Given the description of an element on the screen output the (x, y) to click on. 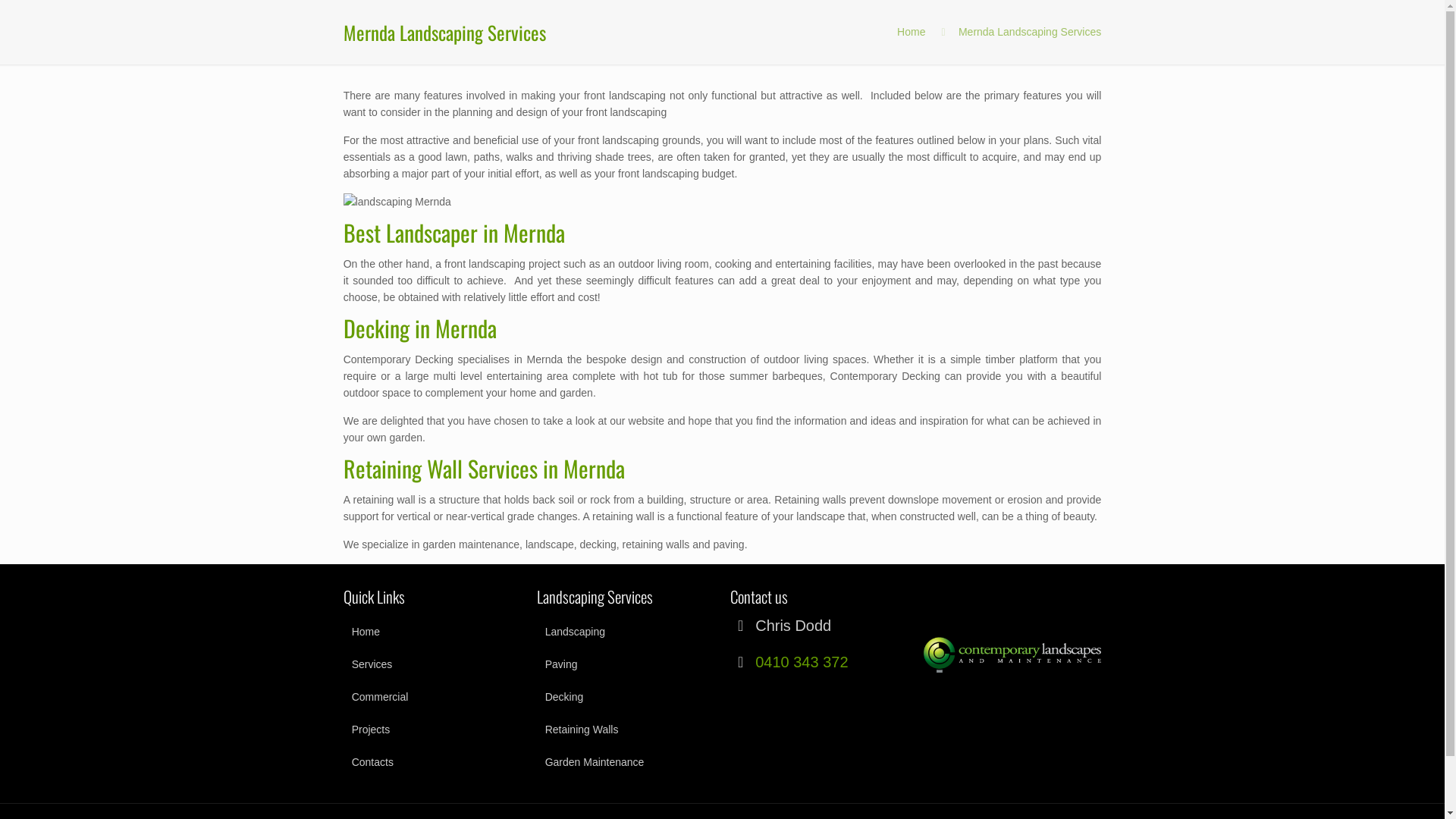
Commercial Element type: text (432, 696)
Contacts Element type: text (432, 761)
Services Element type: text (432, 663)
Projects Element type: text (432, 729)
Mernda Landscaping Services Element type: text (1029, 31)
Decking Element type: text (625, 696)
Home Element type: text (911, 31)
Retaining Walls Element type: text (625, 729)
0410 343 372 Element type: text (801, 661)
Home Element type: text (432, 631)
Landscaping Element type: text (625, 631)
Garden Maintenance Element type: text (625, 761)
Paving Element type: text (625, 663)
